Given the description of an element on the screen output the (x, y) to click on. 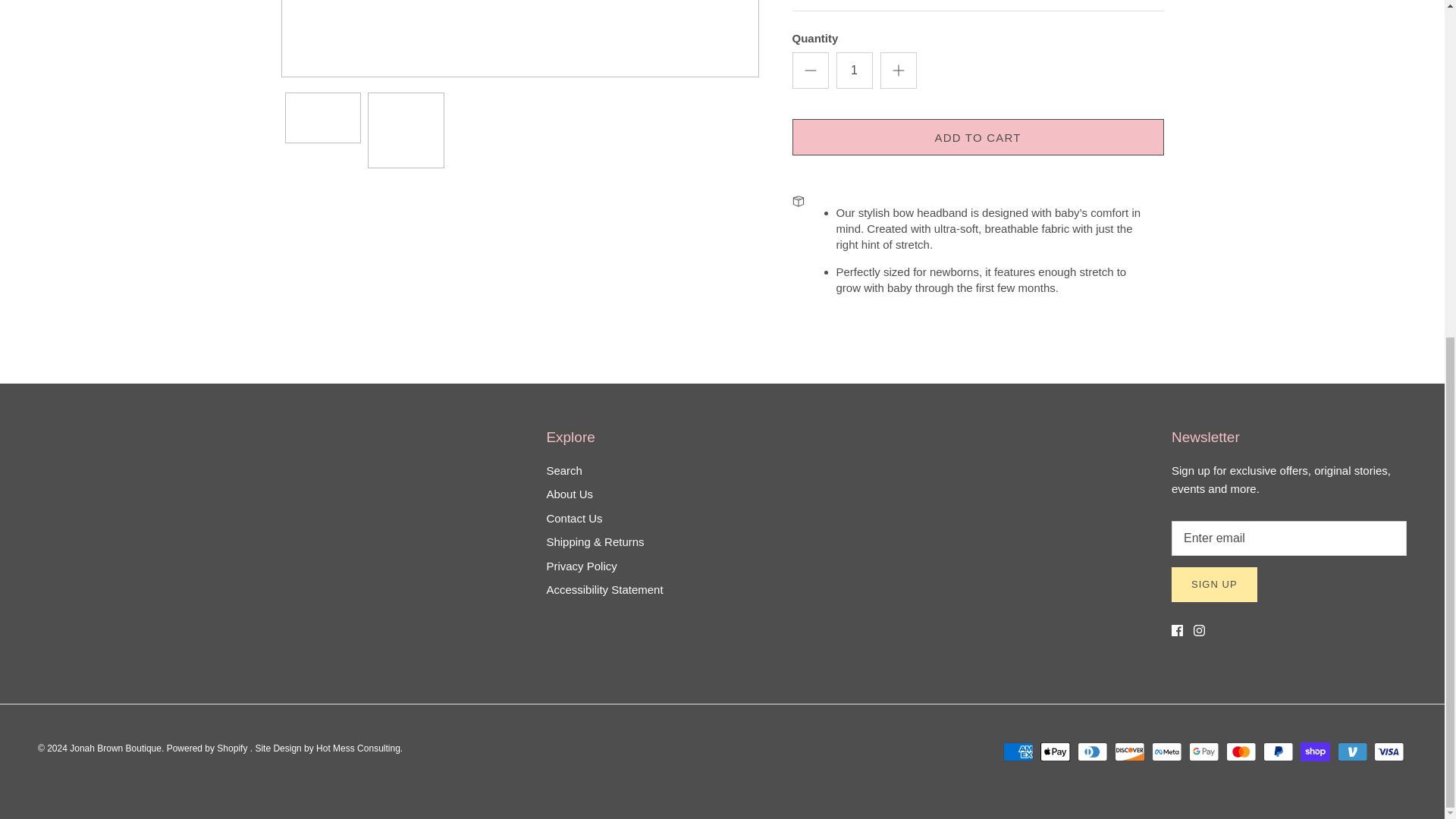
Shop Pay (1315, 751)
Instagram (1199, 630)
Meta Pay (1166, 751)
Mastercard (1240, 751)
Apple Pay (1055, 751)
Diners Club (1092, 751)
Venmo (1352, 751)
1 (853, 70)
Discover (1129, 751)
Facebook (1177, 630)
American Express (1018, 751)
Minus (809, 70)
PayPal (1277, 751)
Plus (897, 70)
Visa (1388, 751)
